Given the description of an element on the screen output the (x, y) to click on. 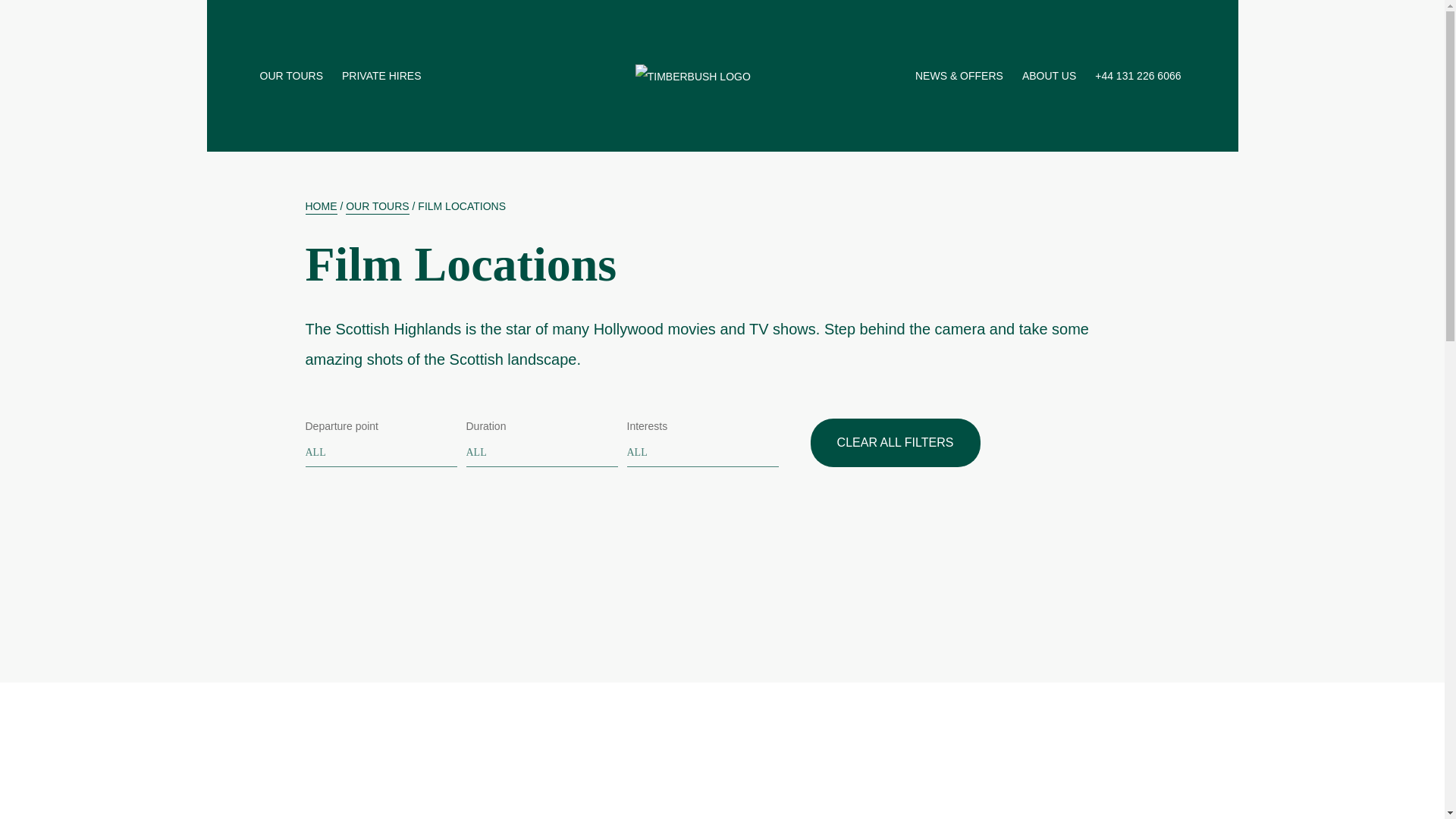
ABOUT US (1050, 75)
PRIVATE HIRES (383, 75)
OUR TOURS (292, 75)
